Given the description of an element on the screen output the (x, y) to click on. 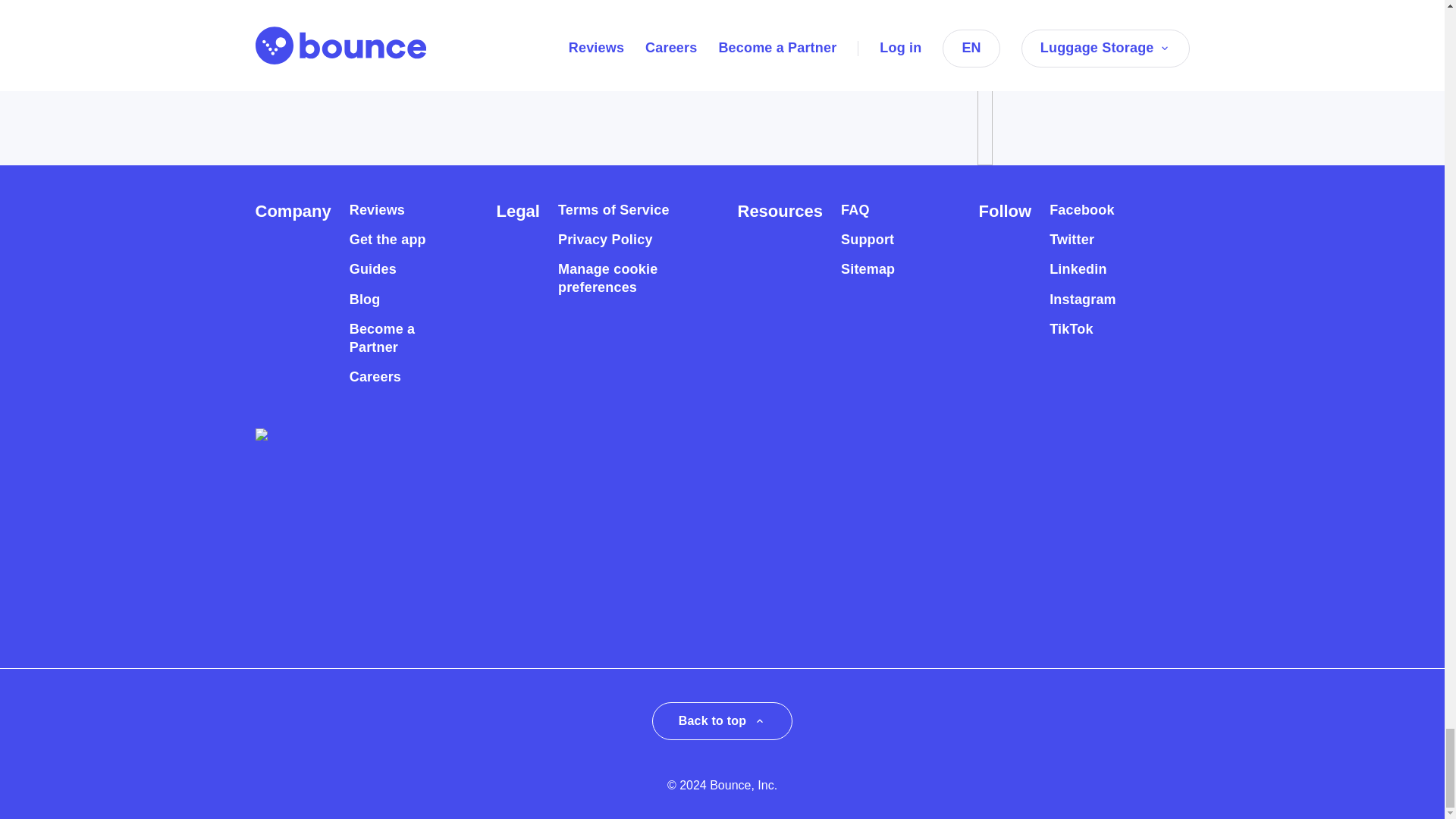
Download (321, 31)
Terms of Service (613, 210)
Blog (364, 299)
Guides (372, 269)
Careers (375, 376)
Become a Partner (395, 338)
Reviews (376, 210)
Get the app (387, 239)
